Given the description of an element on the screen output the (x, y) to click on. 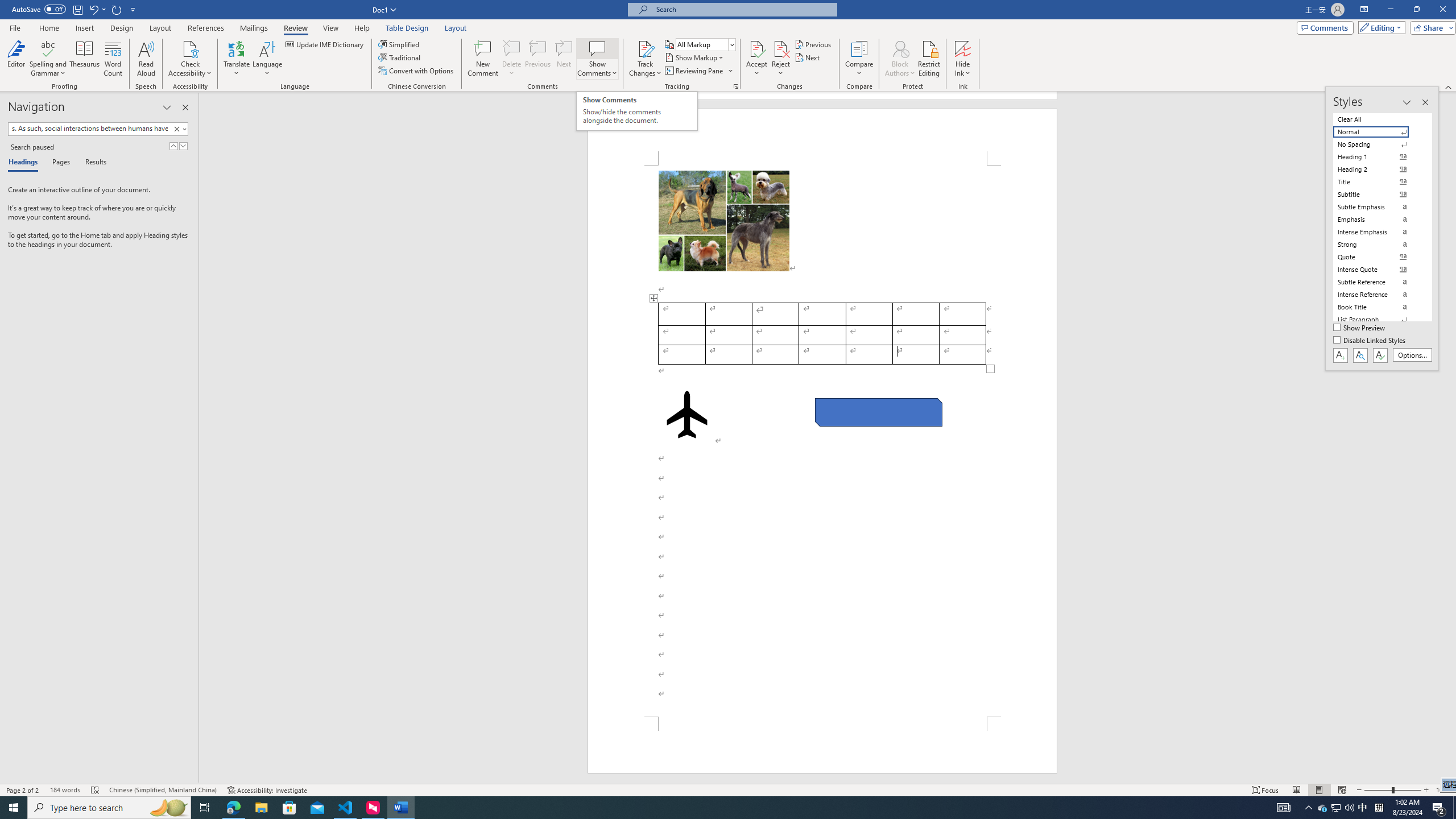
Previous Result (173, 145)
Undo Style (96, 9)
Language (267, 58)
New Comment (482, 58)
Change Tracking Options... (735, 85)
Heading 2 (1377, 169)
Check Accessibility (189, 48)
Emphasis (1377, 219)
Read Aloud (145, 58)
Delete (511, 58)
Subtle Emphasis (1377, 206)
Spelling and Grammar (48, 48)
Show Preview (1360, 328)
